Given the description of an element on the screen output the (x, y) to click on. 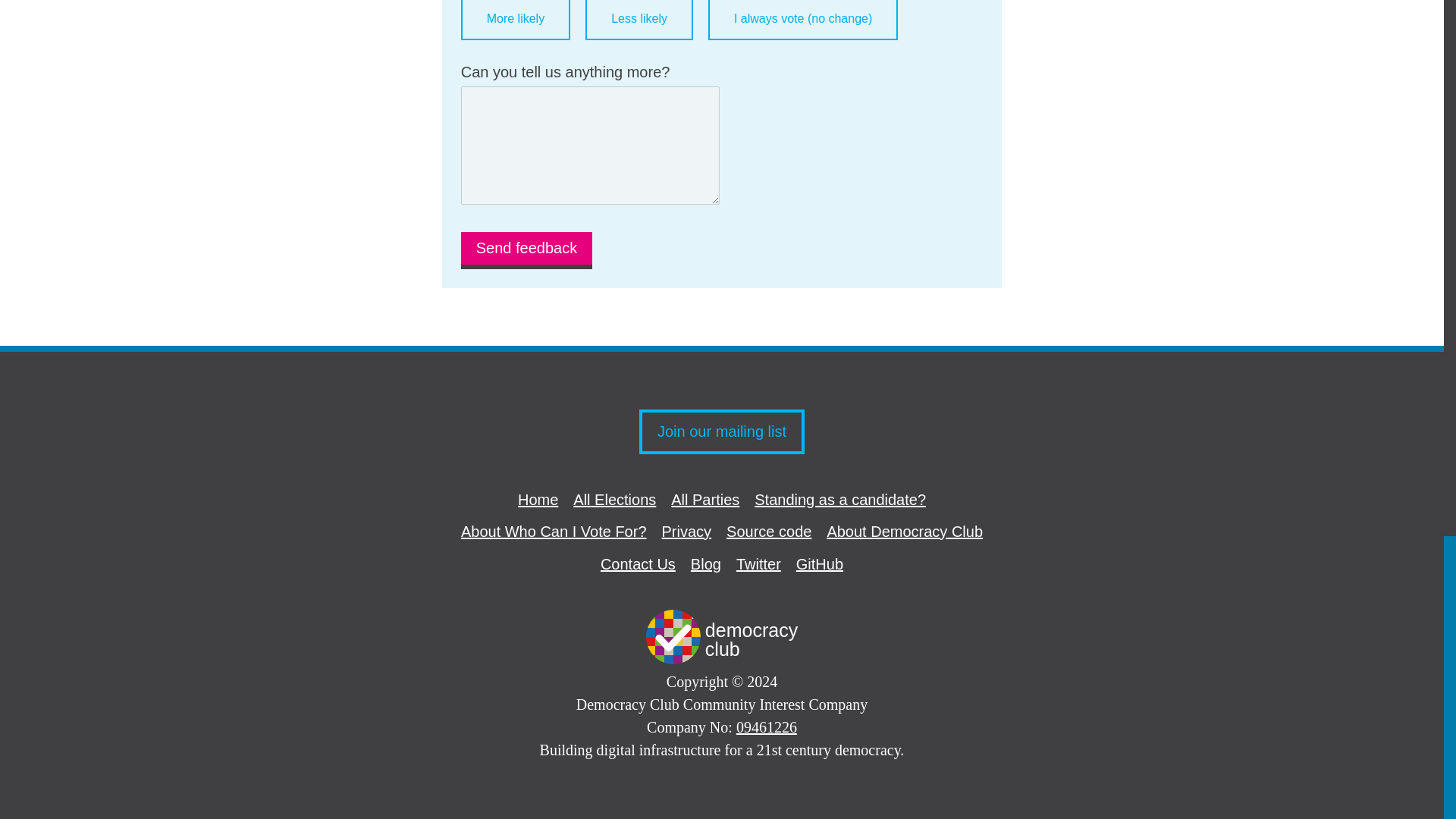
Privacy (686, 531)
Send feedback (526, 250)
Contact Us (637, 564)
Source code (768, 531)
All Parties (705, 499)
09461226 (766, 727)
Twitter (758, 564)
GitHub (819, 564)
Standing as a candidate? (840, 499)
About Democracy Club (721, 639)
Join our mailing list (904, 531)
Blog (722, 431)
About Who Can I Vote For? (705, 564)
Home (553, 531)
